Given the description of an element on the screen output the (x, y) to click on. 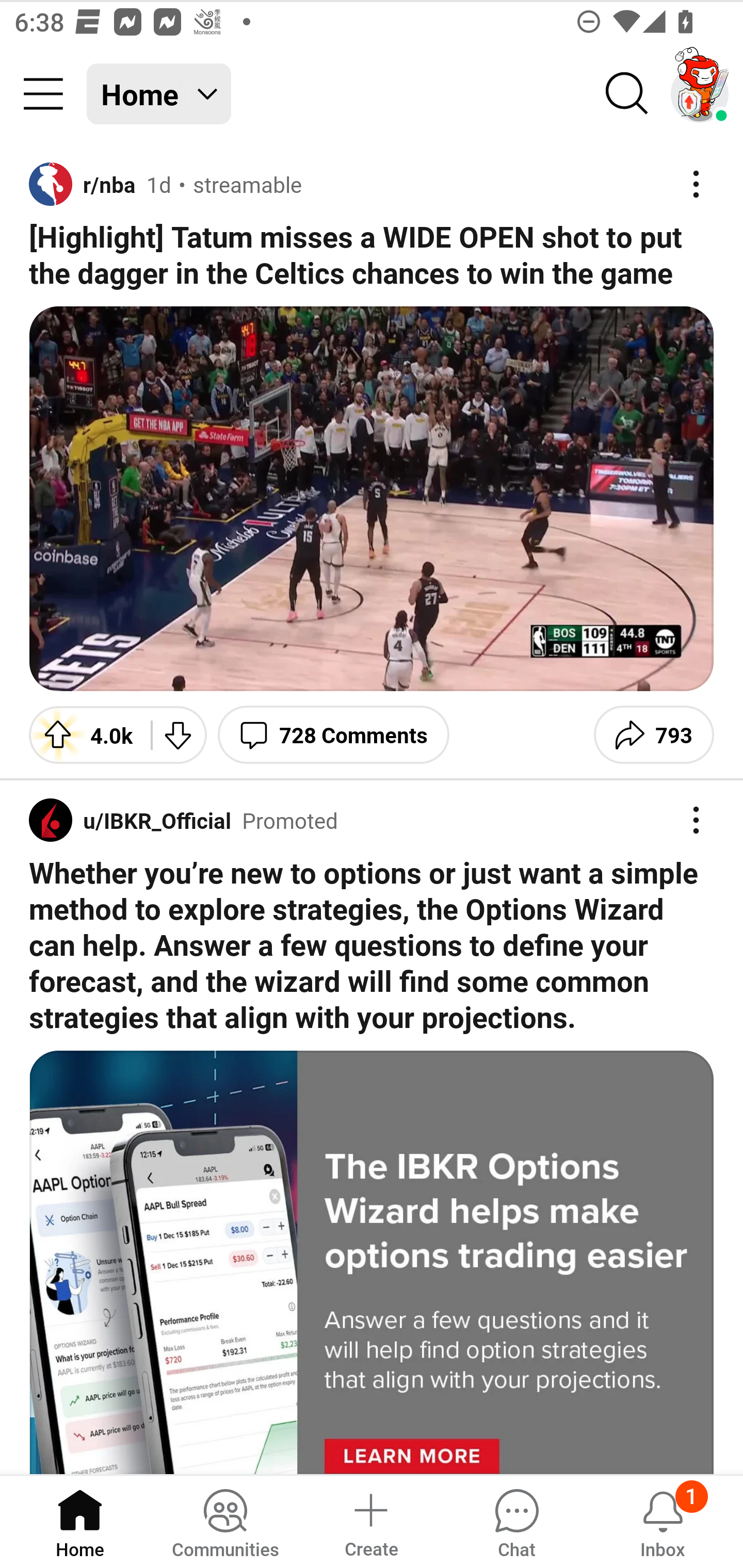
Community menu (43, 93)
Home Home feed (158, 93)
Search (626, 93)
TestAppium002 account (699, 93)
Home (80, 1520)
Communities (225, 1520)
Create a post Create (370, 1520)
Chat (516, 1520)
Inbox, has 1 notification 1 Inbox (662, 1520)
